Given the description of an element on the screen output the (x, y) to click on. 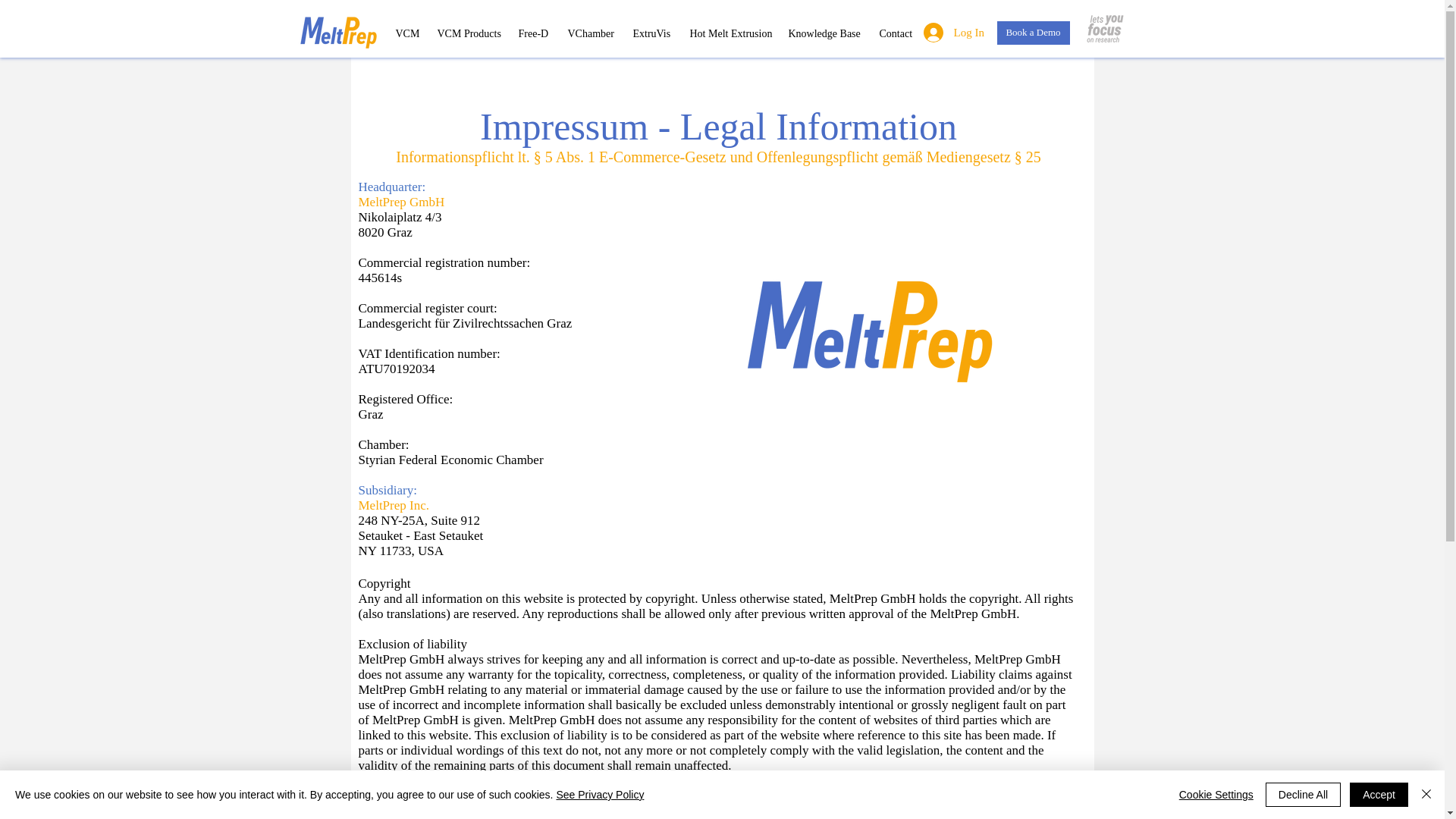
Knowledge Base (821, 33)
Hot Melt Extrusion (727, 33)
VCM Products (466, 33)
Contact (894, 33)
Free-D (531, 33)
VCM (404, 33)
ExtruVis (649, 33)
VChamber (588, 33)
Home (337, 32)
